Given the description of an element on the screen output the (x, y) to click on. 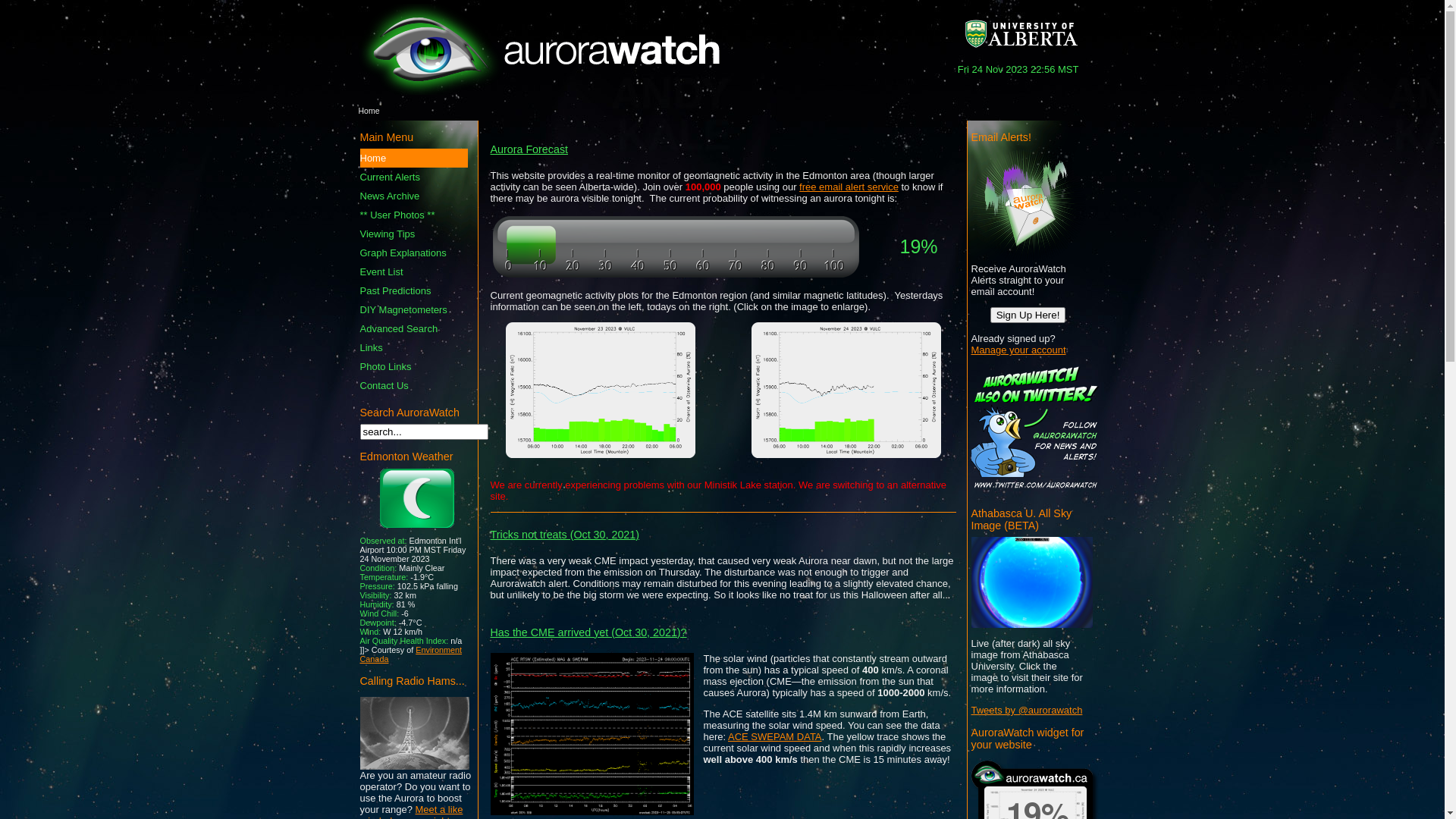
Tricks not treats (Oct 30, 2021) Element type: text (564, 533)
Photo Links Element type: text (413, 366)
Aurora Forecast Element type: text (528, 149)
Past Predictions Element type: text (413, 290)
Yesterdays magnetic activity... Element type: hover (599, 454)
Current Alerts Element type: text (413, 176)
Environment Canada Element type: text (410, 654)
Links Element type: text (413, 347)
Advanced Search Element type: text (413, 328)
Event List Element type: text (413, 271)
Viewing Tips Element type: text (413, 233)
Home Element type: text (413, 157)
Graph Explanations Element type: text (413, 252)
free email alert service Element type: text (848, 186)
Manage your account Element type: text (1017, 349)
News Archive Element type: text (413, 195)
Contact Us Element type: text (413, 385)
Sign Up Here! Element type: text (1028, 315)
DIY Magnetometers Element type: text (413, 309)
ACE SWEPAM DATA Element type: text (775, 736)
Tweets by @aurorawatch Element type: text (1026, 709)
Has the CME arrived yet (Oct 30, 2021)? Element type: text (587, 632)
** User Photos ** Element type: text (413, 214)
Todays current magnetic activity... Element type: hover (845, 454)
